Given the description of an element on the screen output the (x, y) to click on. 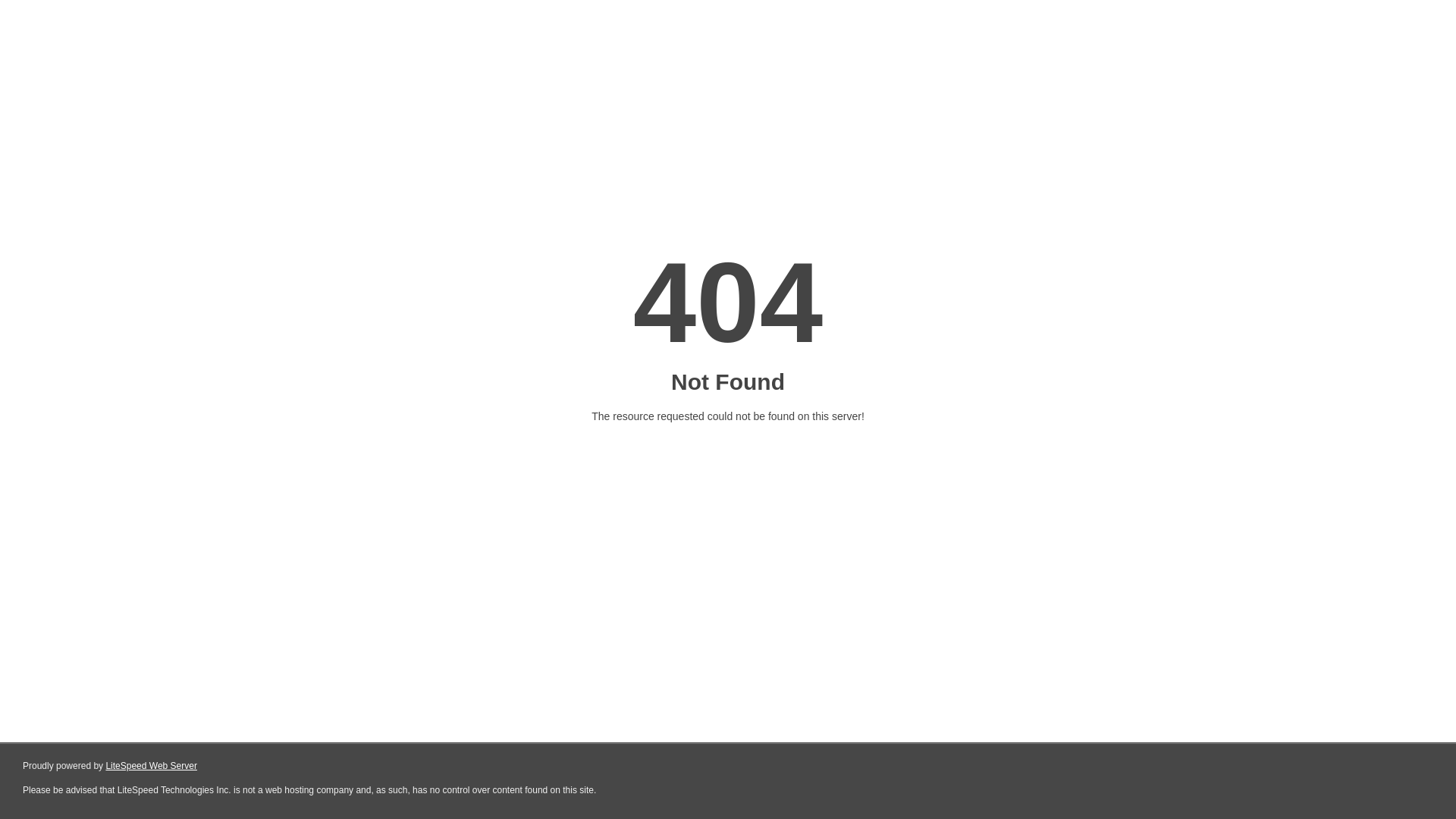
LiteSpeed Web Server Element type: text (151, 765)
